Given the description of an element on the screen output the (x, y) to click on. 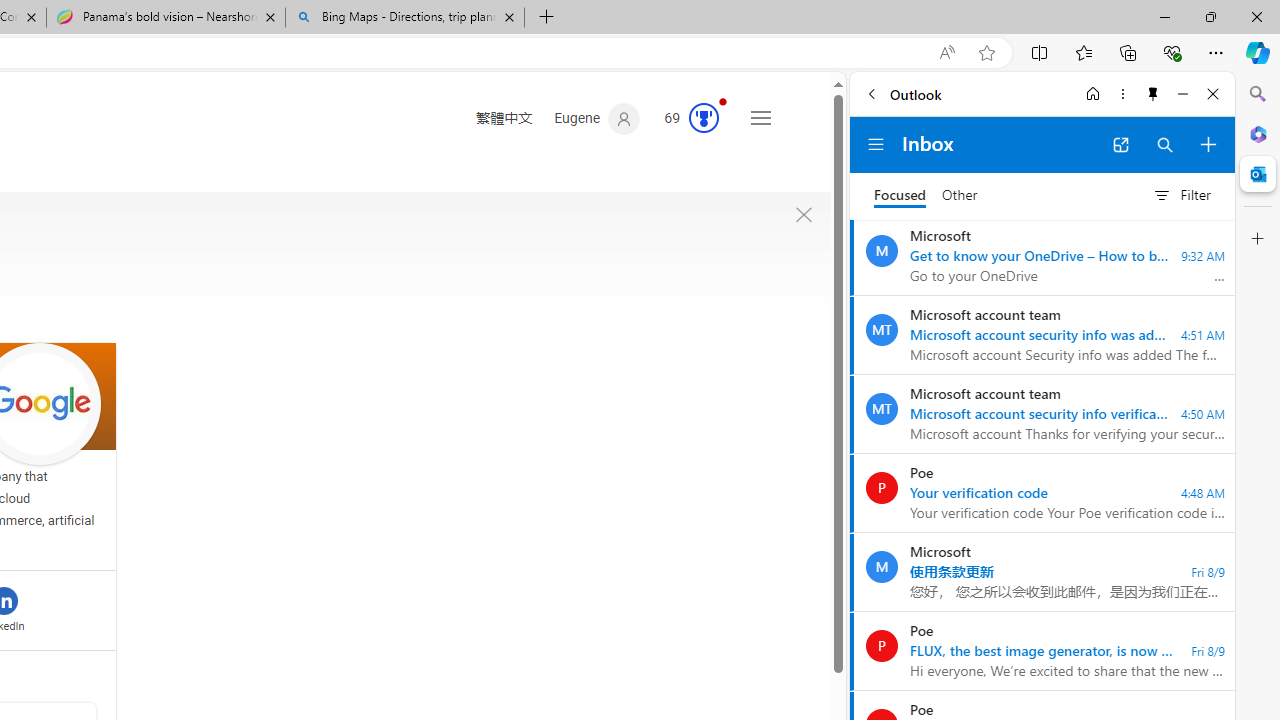
Close Outlook pane (1258, 174)
Focused (900, 195)
Focused Inbox, toggle to go to Other Inbox (925, 195)
Copilot (Ctrl+Shift+.) (1258, 52)
New Tab (546, 17)
Animation (723, 101)
Browser essentials (1171, 52)
Collections (1128, 52)
Customize (1258, 239)
Back (871, 93)
Unpin side pane (1153, 93)
Microsoft 365 (1258, 133)
